Given the description of an element on the screen output the (x, y) to click on. 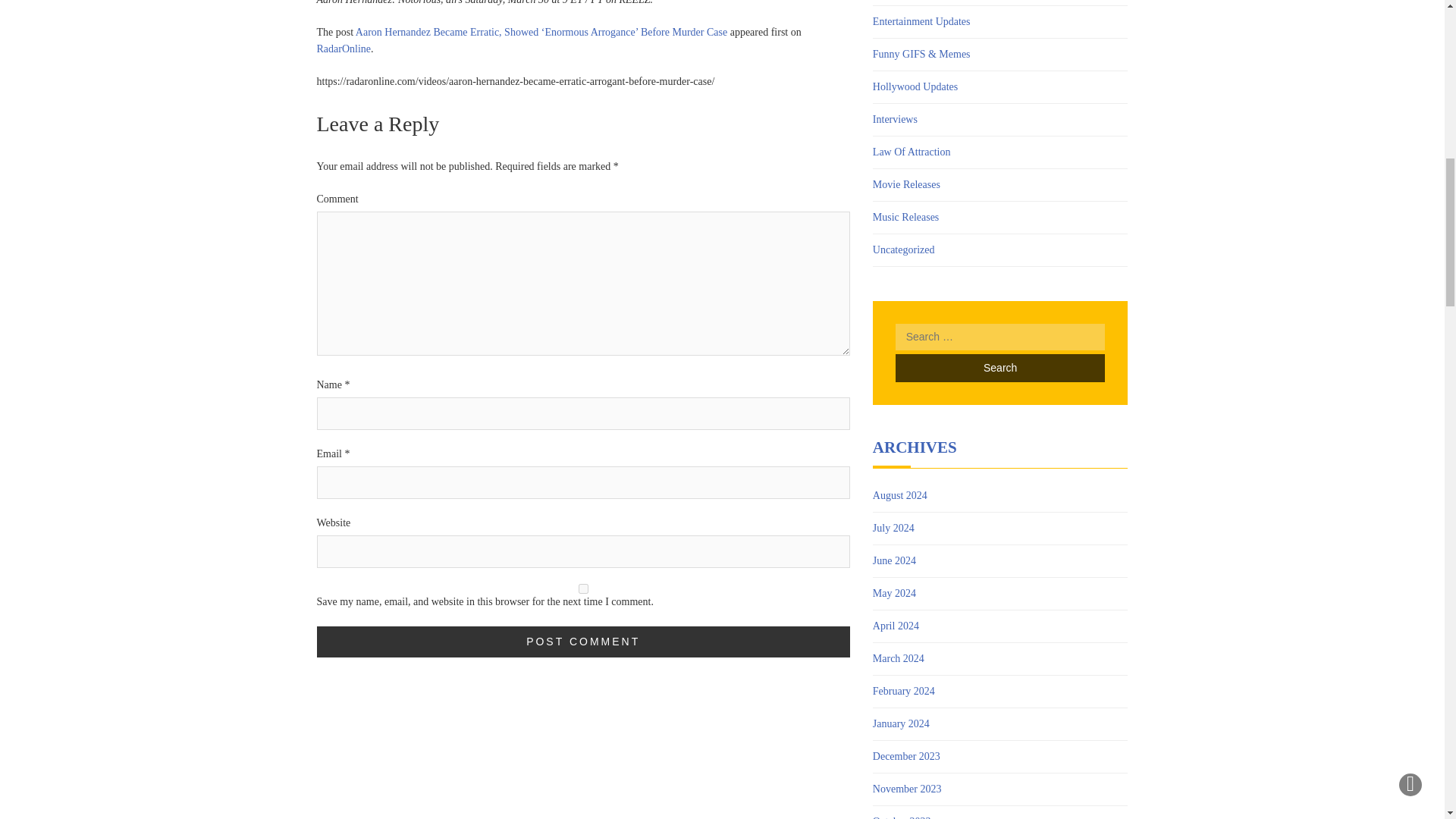
Post Comment (583, 641)
RadarOnline (344, 48)
Post Comment (583, 641)
yes (583, 588)
Search (1000, 367)
Search (1000, 367)
